Given the description of an element on the screen output the (x, y) to click on. 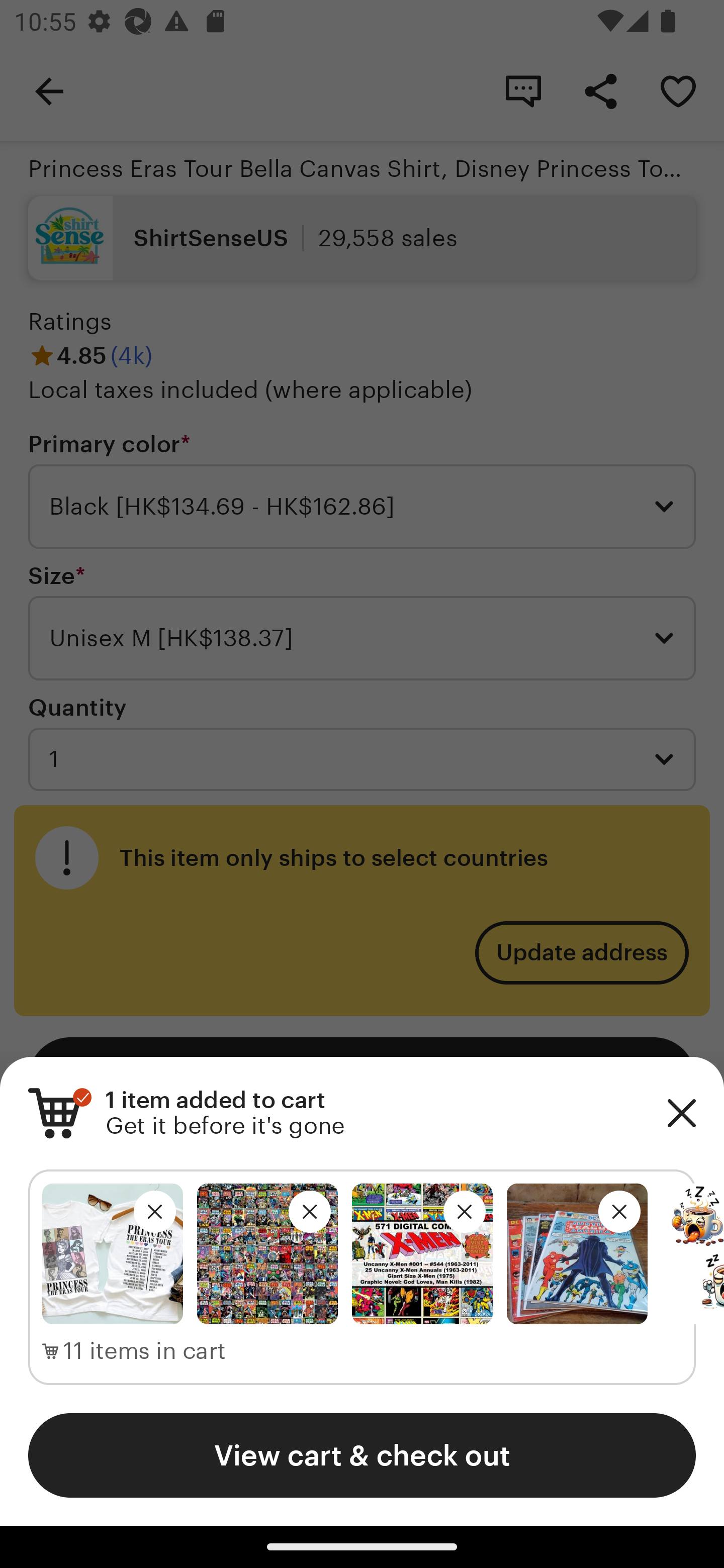
11 items in cart (133, 1351)
View cart & check out (361, 1454)
